Given the description of an element on the screen output the (x, y) to click on. 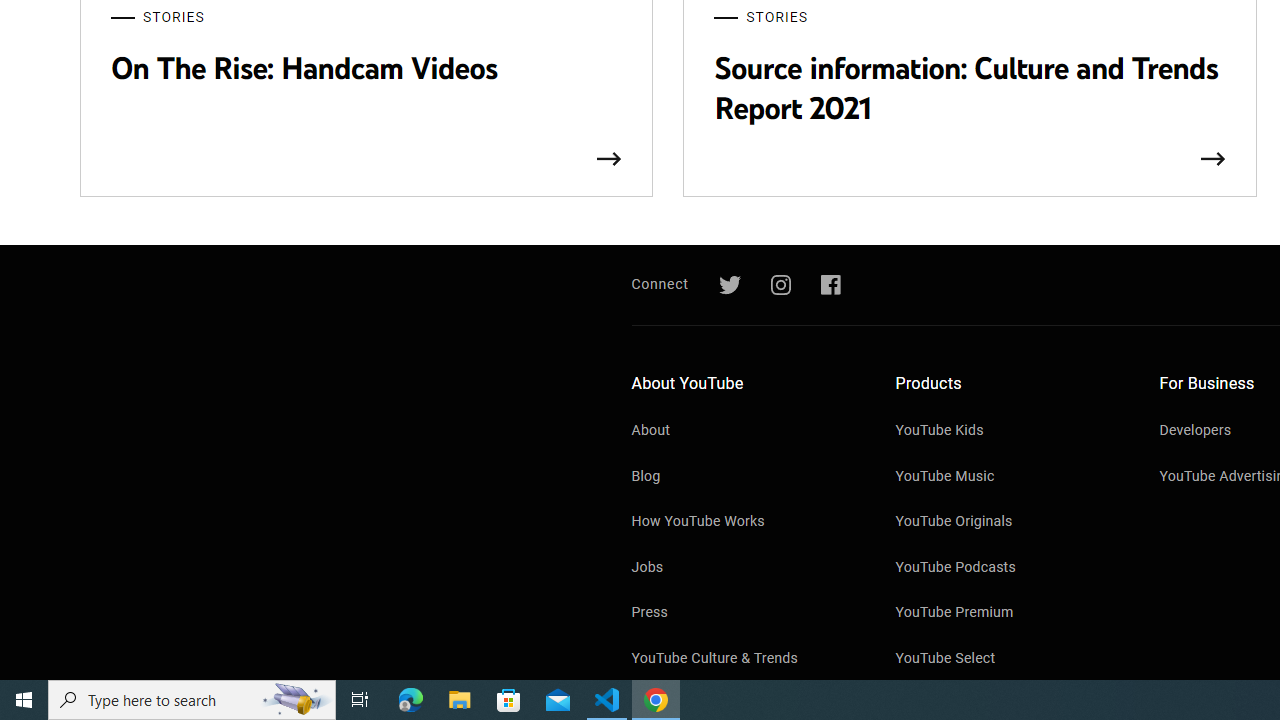
YouTube Podcasts (1007, 568)
YouTube Select (1007, 659)
Blog (743, 478)
Facebook (829, 285)
Twitter (729, 285)
Instagram (779, 285)
YouTube Originals (1007, 523)
About (743, 431)
How YouTube Works (743, 523)
YouTube Music (1007, 478)
YouTube Kids (1007, 431)
Press (743, 614)
Jobs (743, 568)
YouTube Premium (1007, 614)
